Given the description of an element on the screen output the (x, y) to click on. 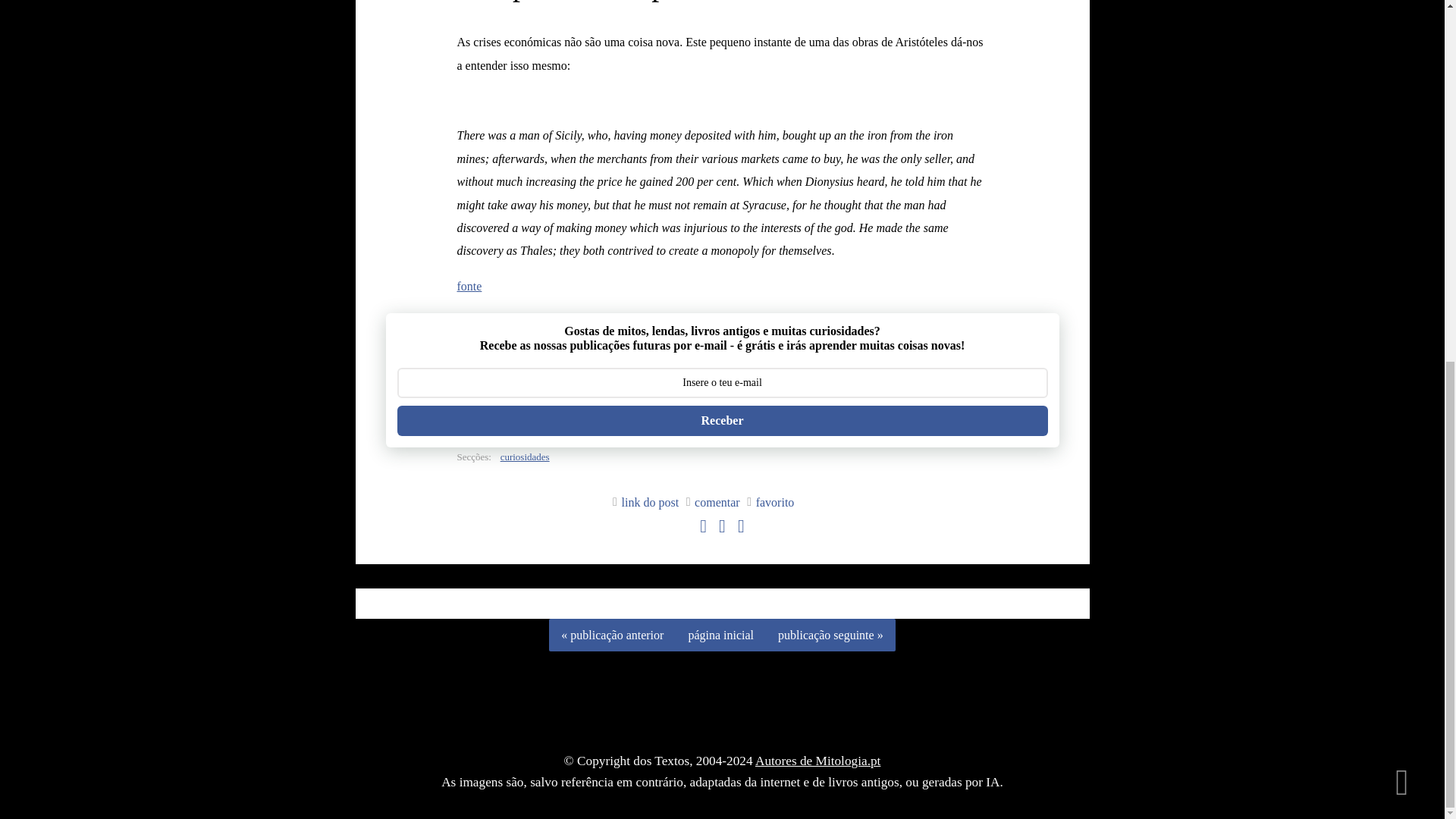
Voltar ao topo (1401, 134)
